Given the description of an element on the screen output the (x, y) to click on. 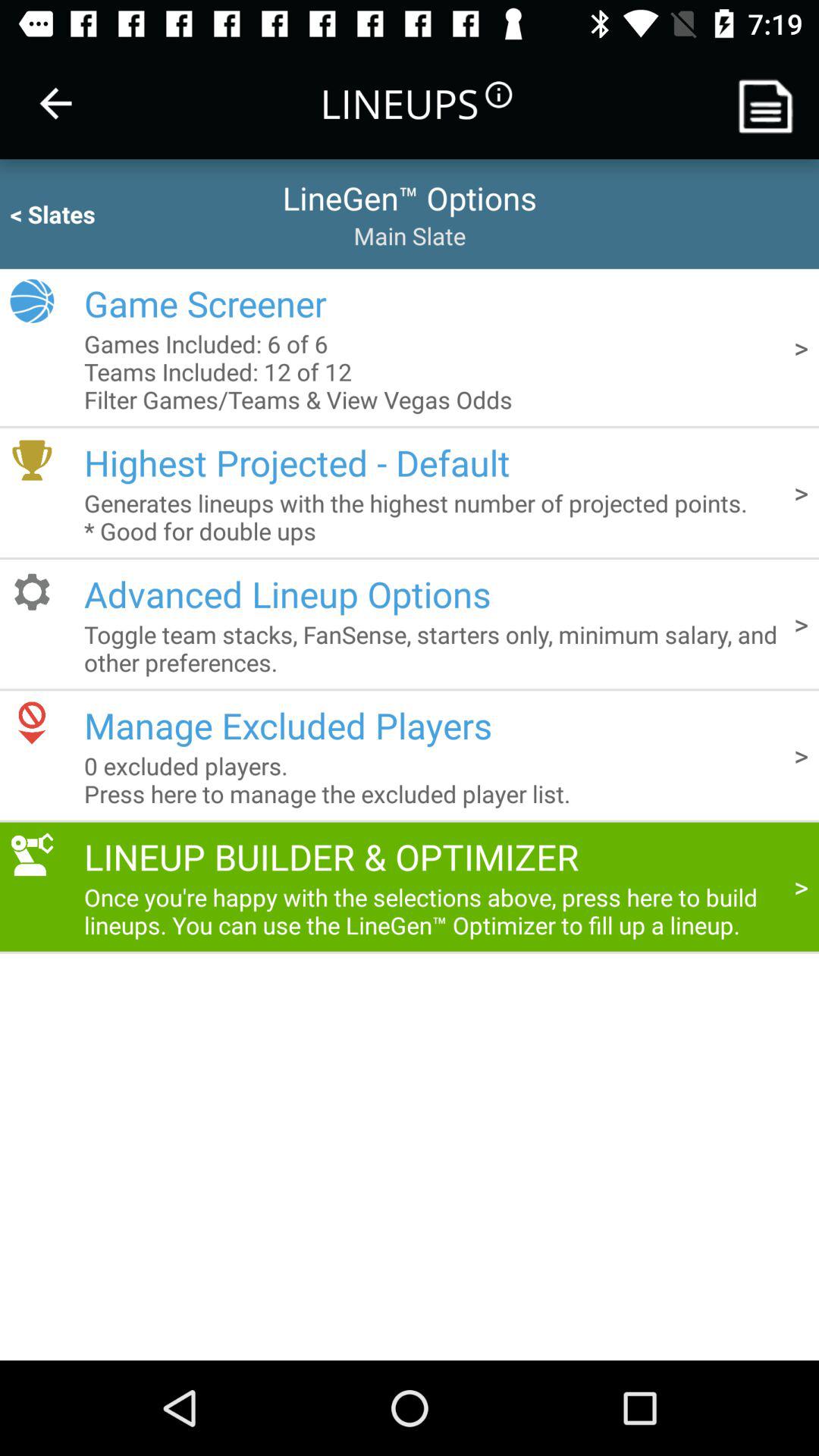
turn off item to the left of the lineups (55, 103)
